Given the description of an element on the screen output the (x, y) to click on. 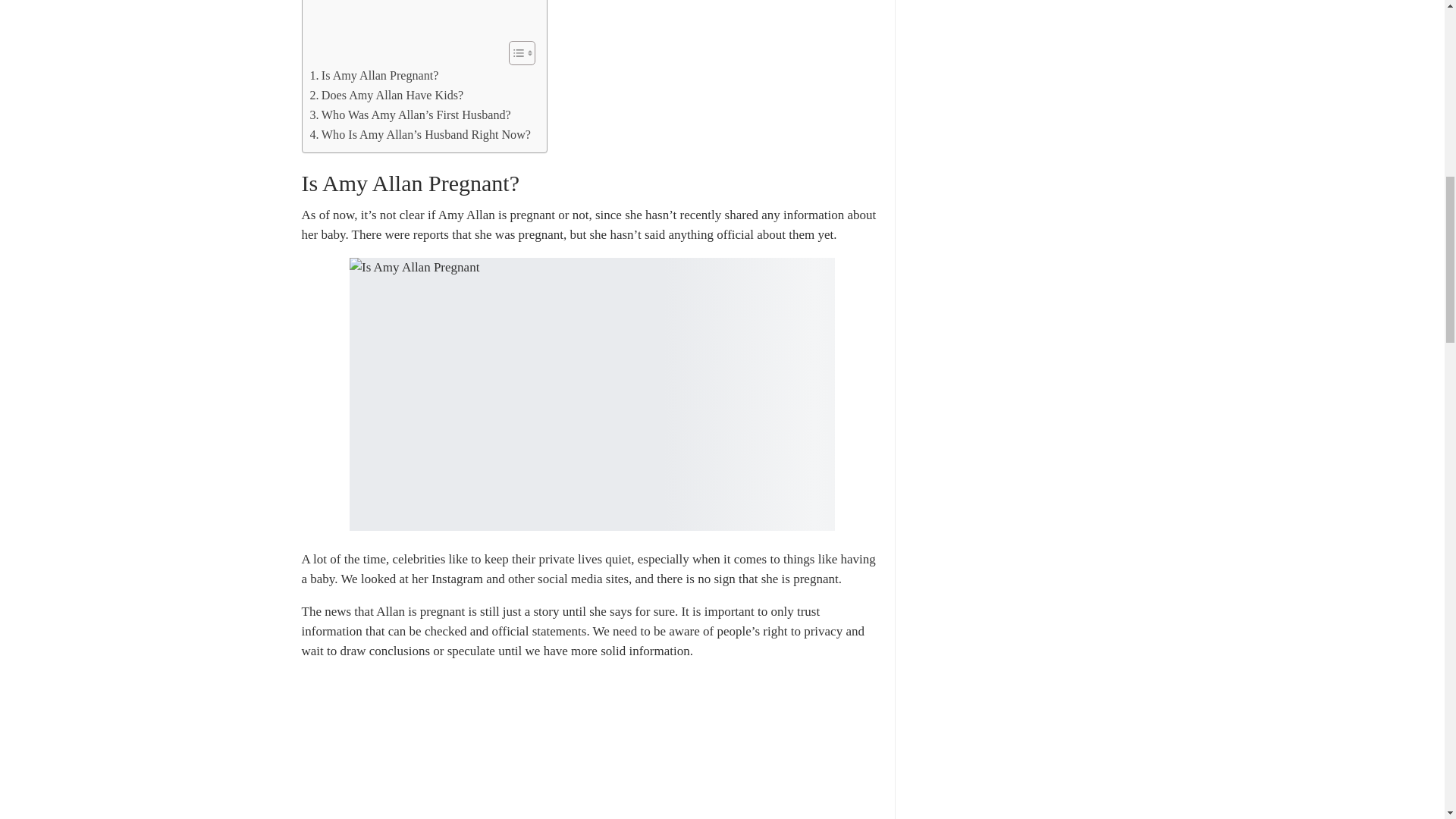
Is Amy Allan Pregnant? (373, 81)
Advertisement (419, 20)
Does Amy Allan Have Kids? (385, 101)
